Given the description of an element on the screen output the (x, y) to click on. 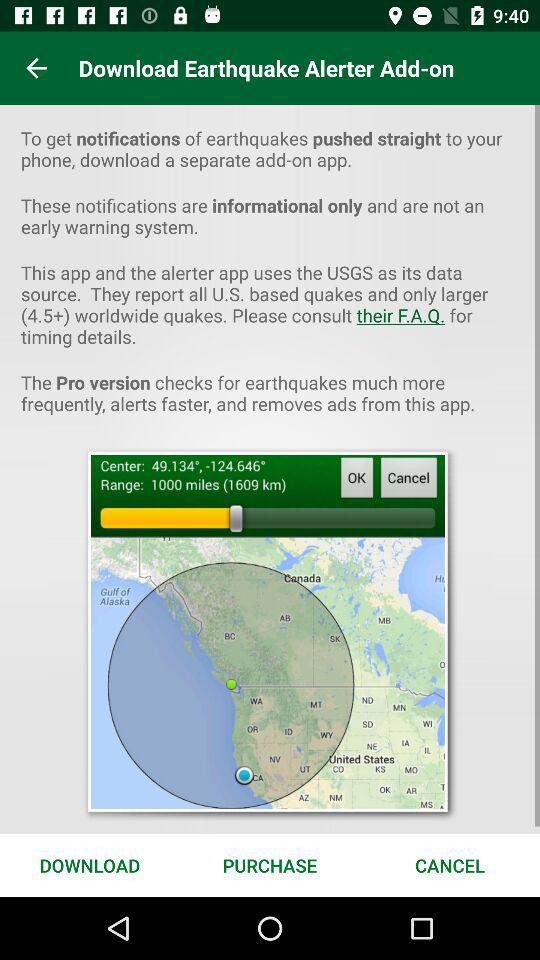
press purchase (270, 864)
